Given the description of an element on the screen output the (x, y) to click on. 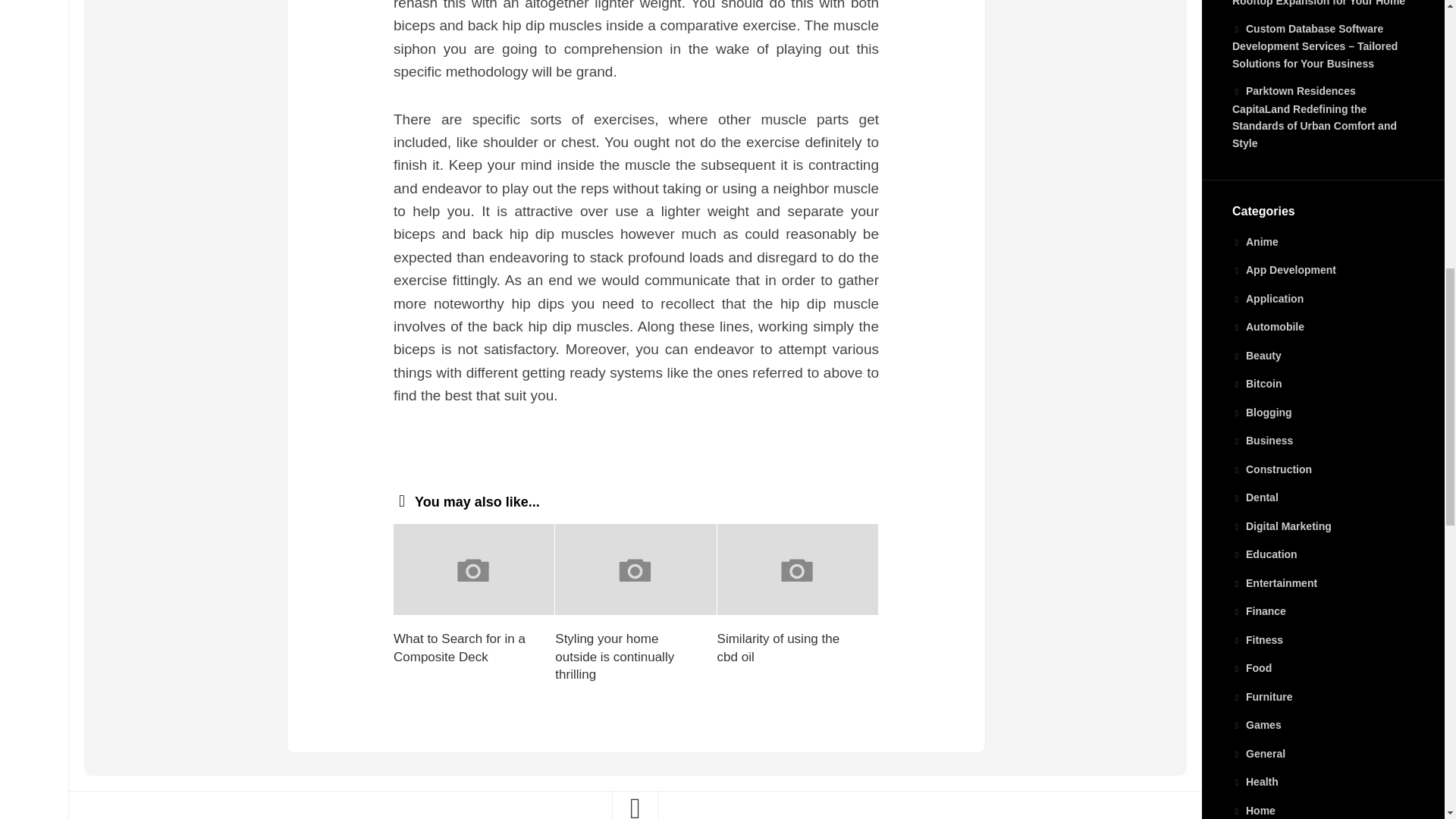
Dental (1254, 497)
The Advantages of a Level Rooftop Expansion for Your Home (1318, 3)
Business (1261, 440)
Entertainment (1274, 582)
Home (1253, 810)
Automobile (1267, 326)
Blogging (1261, 412)
Beauty (1256, 355)
General (1258, 753)
Fitness (1256, 639)
Finance (1258, 611)
Health (1254, 781)
Bitcoin (1256, 383)
Games (1256, 725)
